Given the description of an element on the screen output the (x, y) to click on. 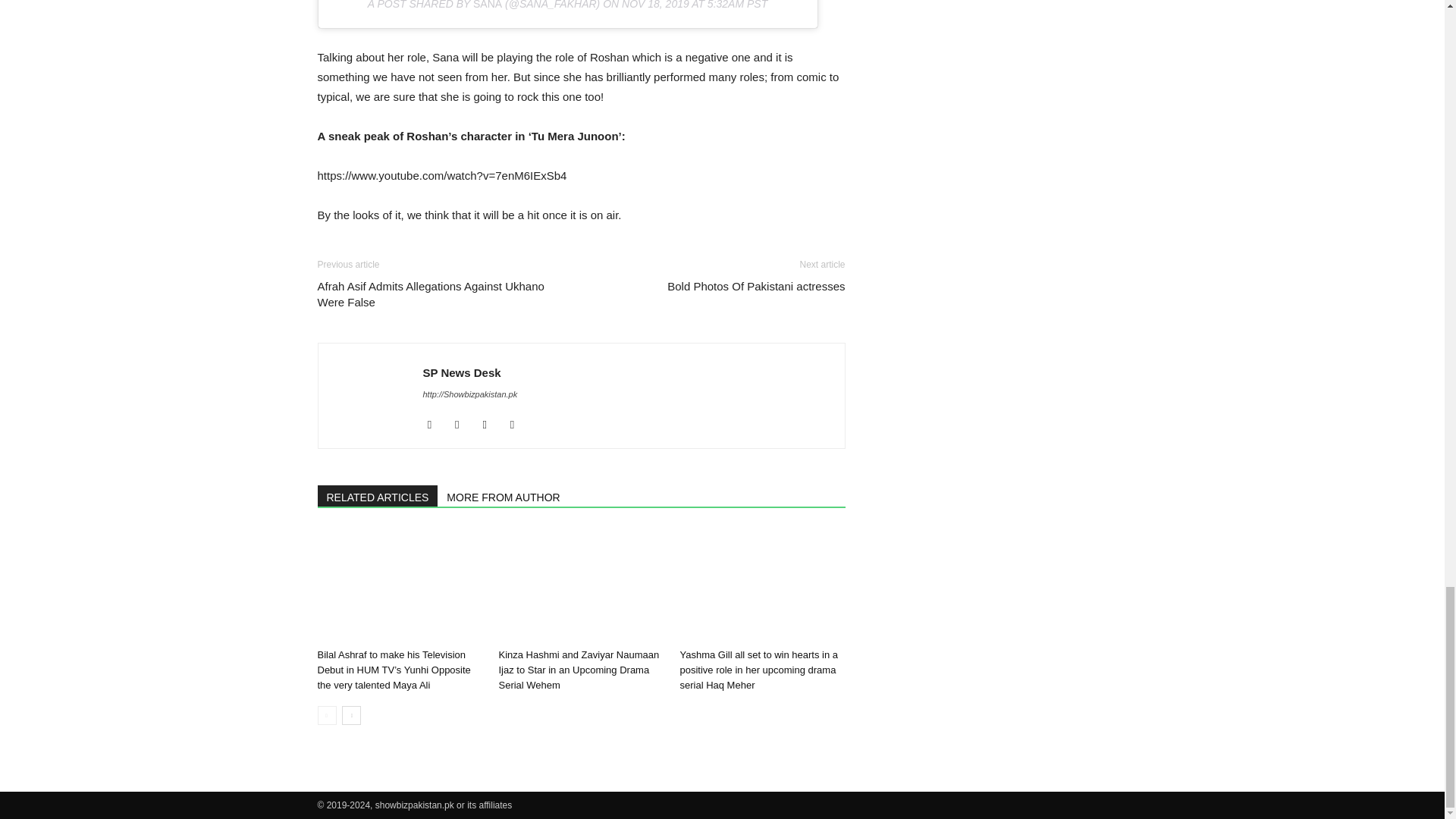
Facebook (435, 424)
Twitter (518, 424)
Afrah Asif Admits Allegations Against Ukhano Were False (439, 294)
SANA (487, 4)
RELATED ARTICLES (377, 495)
Mail (489, 424)
SP News Desk (461, 372)
MORE FROM AUTHOR (503, 495)
